Given the description of an element on the screen output the (x, y) to click on. 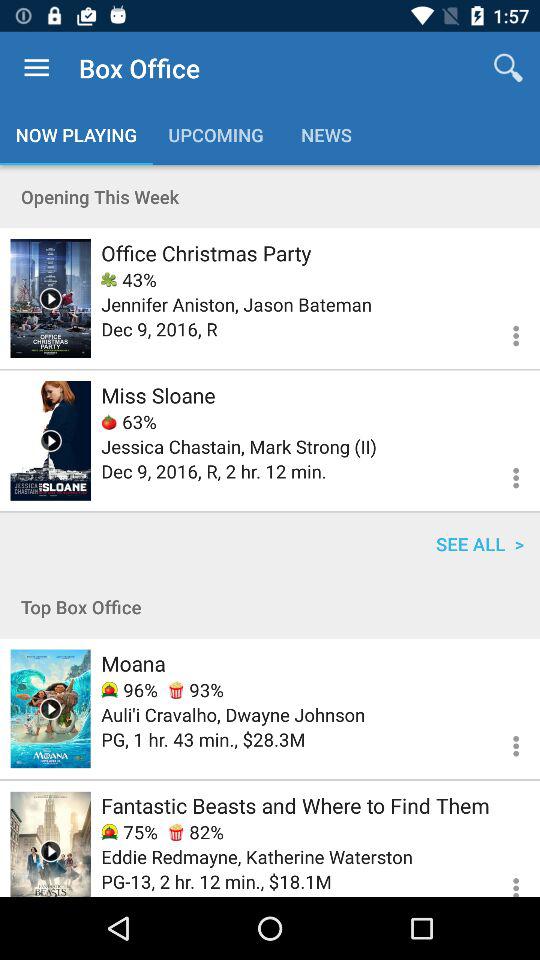
select the item to the right of the 75% (195, 831)
